Given the description of an element on the screen output the (x, y) to click on. 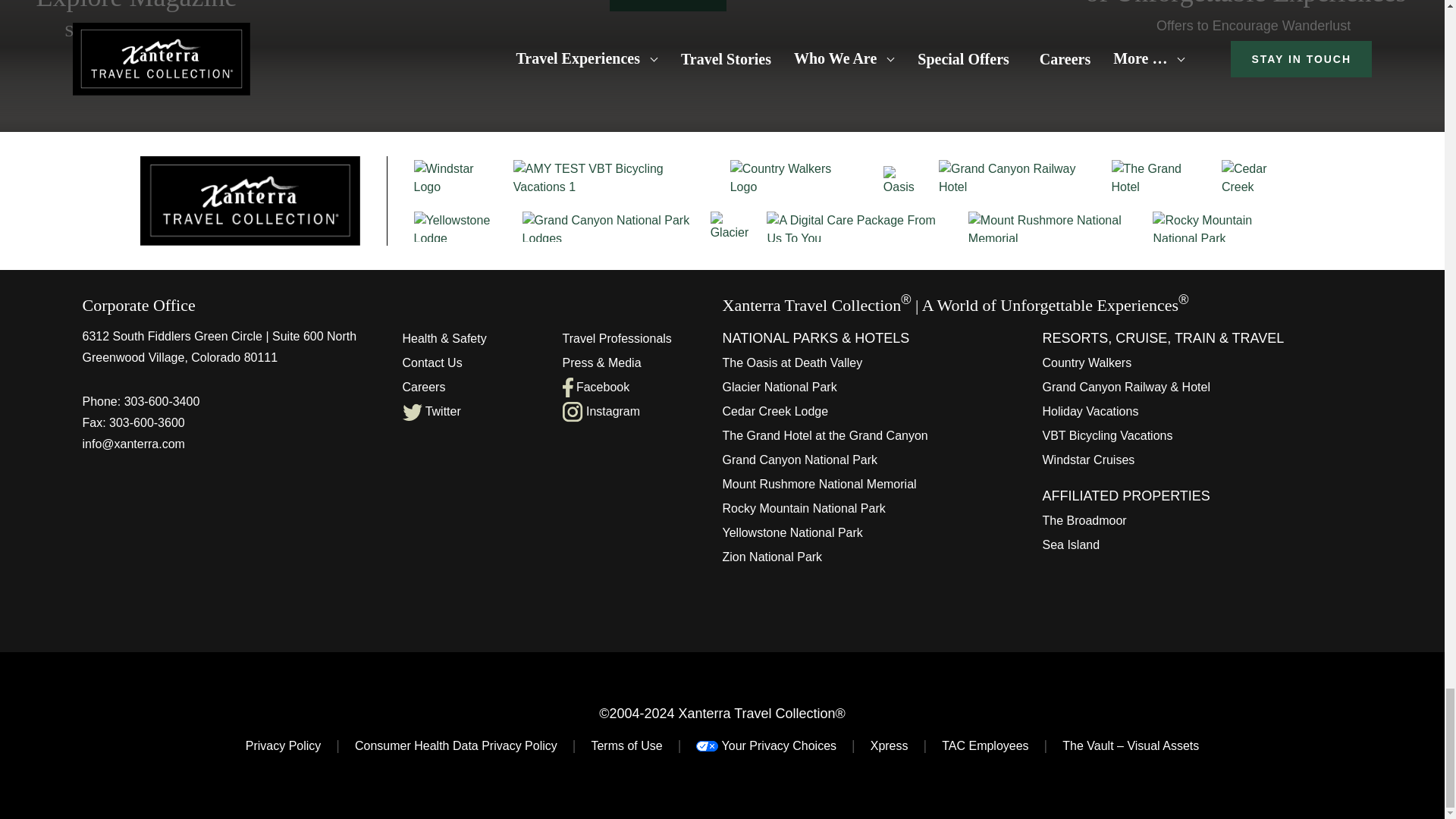
Current Offers (1253, 19)
Windstar Logo (455, 177)
Subscribe (668, 5)
Oasis (903, 180)
Country Walkers Logo (791, 177)
Learn More About Explore Magazine (136, 21)
AMY TEST VBT Bicycling Vacations 1 (613, 177)
Grand Canyon Railway Hotel (1017, 177)
